Given the description of an element on the screen output the (x, y) to click on. 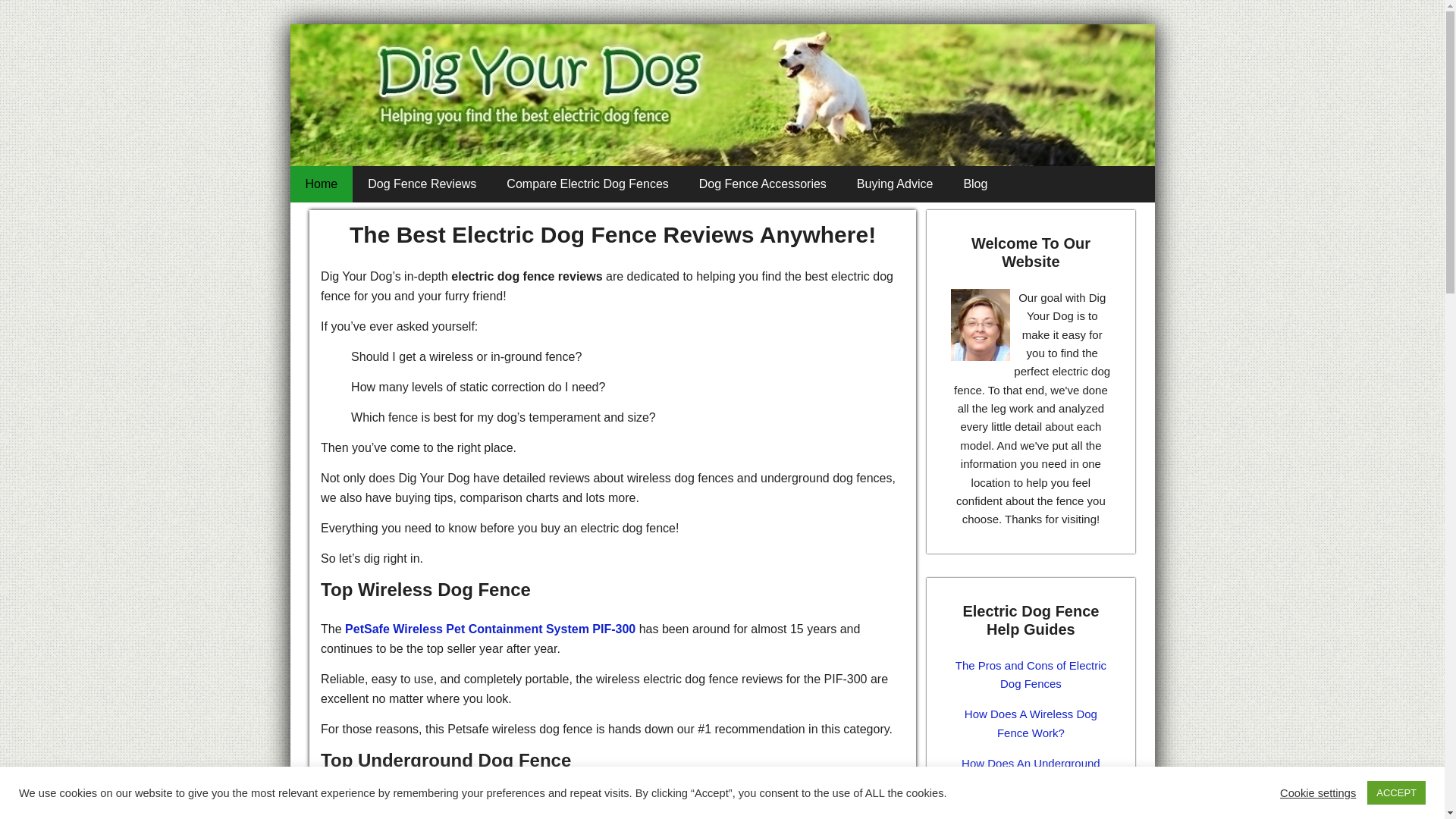
Buying Advice (895, 184)
Dog Fence Reviews (422, 184)
Cookie settings (1317, 792)
The Pros and Cons of Electric Dog Fences (1030, 674)
ACCEPT (1396, 792)
Compare Electric Dog Fences (587, 184)
Dog Fence Accessories (762, 184)
How Does An Underground Dog Fence Work? (1030, 771)
How Does A Wireless Dog Fence Work? (1030, 722)
Home (320, 184)
